Given the description of an element on the screen output the (x, y) to click on. 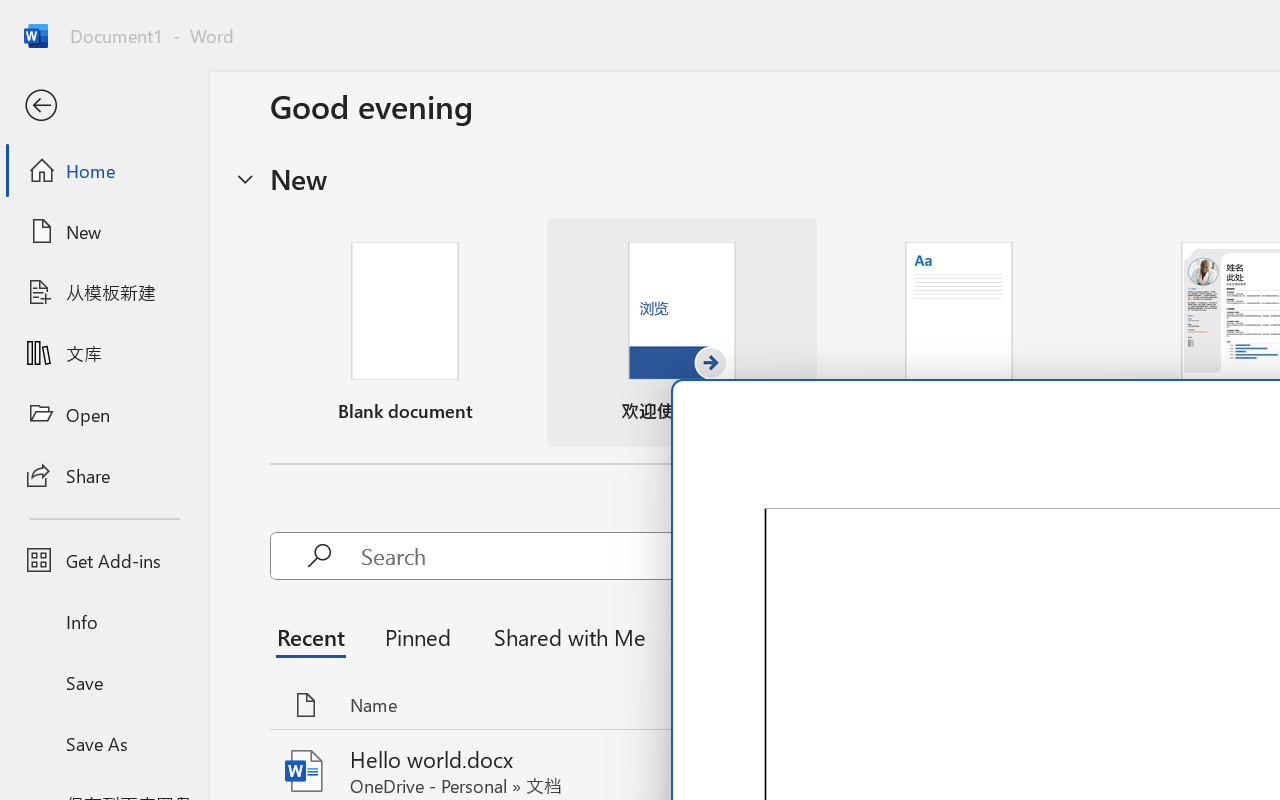
Get Add-ins (104, 560)
Info (104, 621)
Shared with Me (563, 636)
Back (104, 106)
New (104, 231)
Pinned (417, 636)
Blank document (405, 332)
Recent (316, 636)
